Given the description of an element on the screen output the (x, y) to click on. 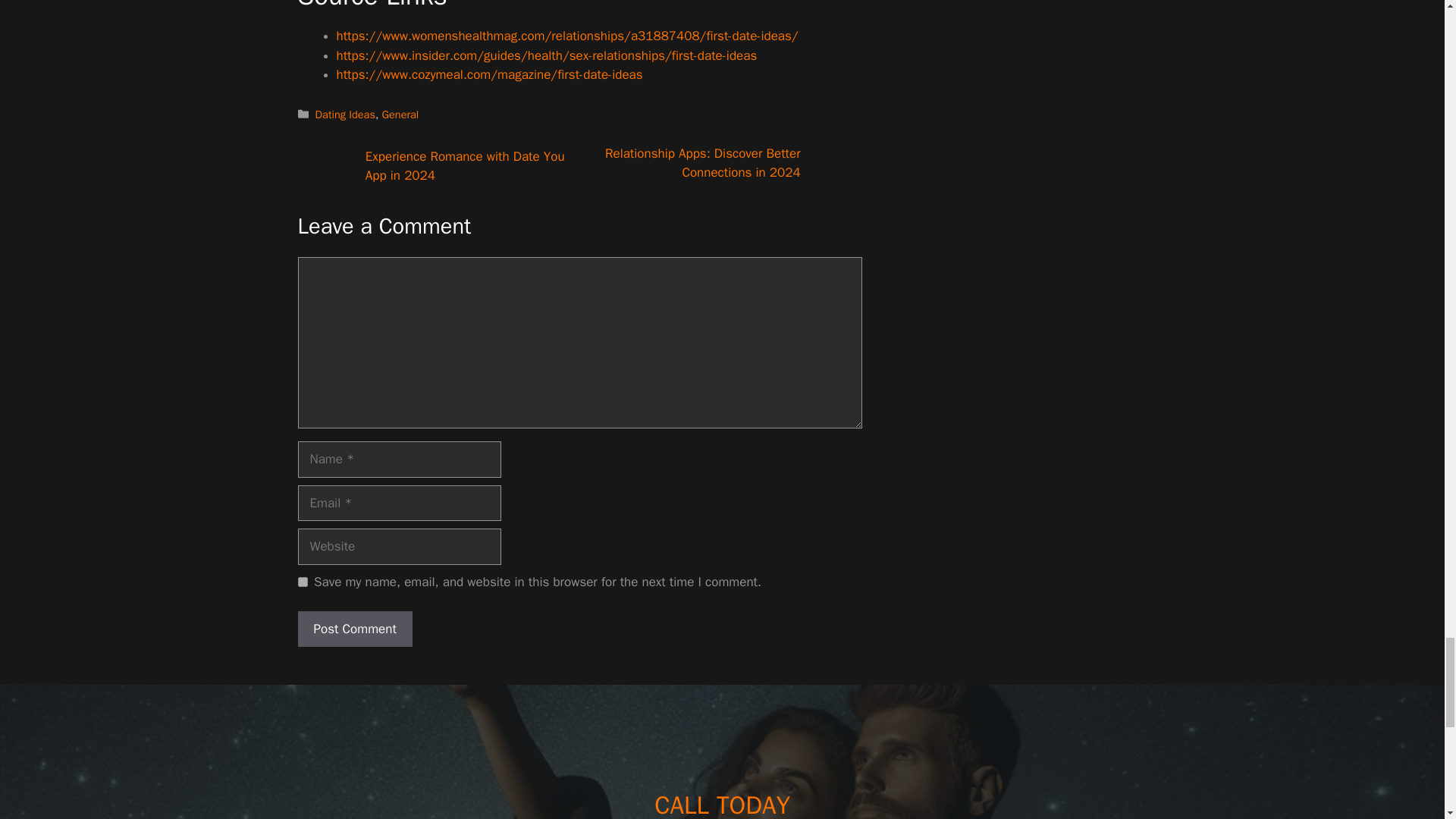
Post Comment (354, 628)
Post Comment (354, 628)
Experience Romance with Date You App in 2024 (464, 166)
General (400, 114)
Relationship Apps: Discover Better Connections in 2024 (702, 162)
Dating Ideas (345, 114)
yes (302, 582)
